Given the description of an element on the screen output the (x, y) to click on. 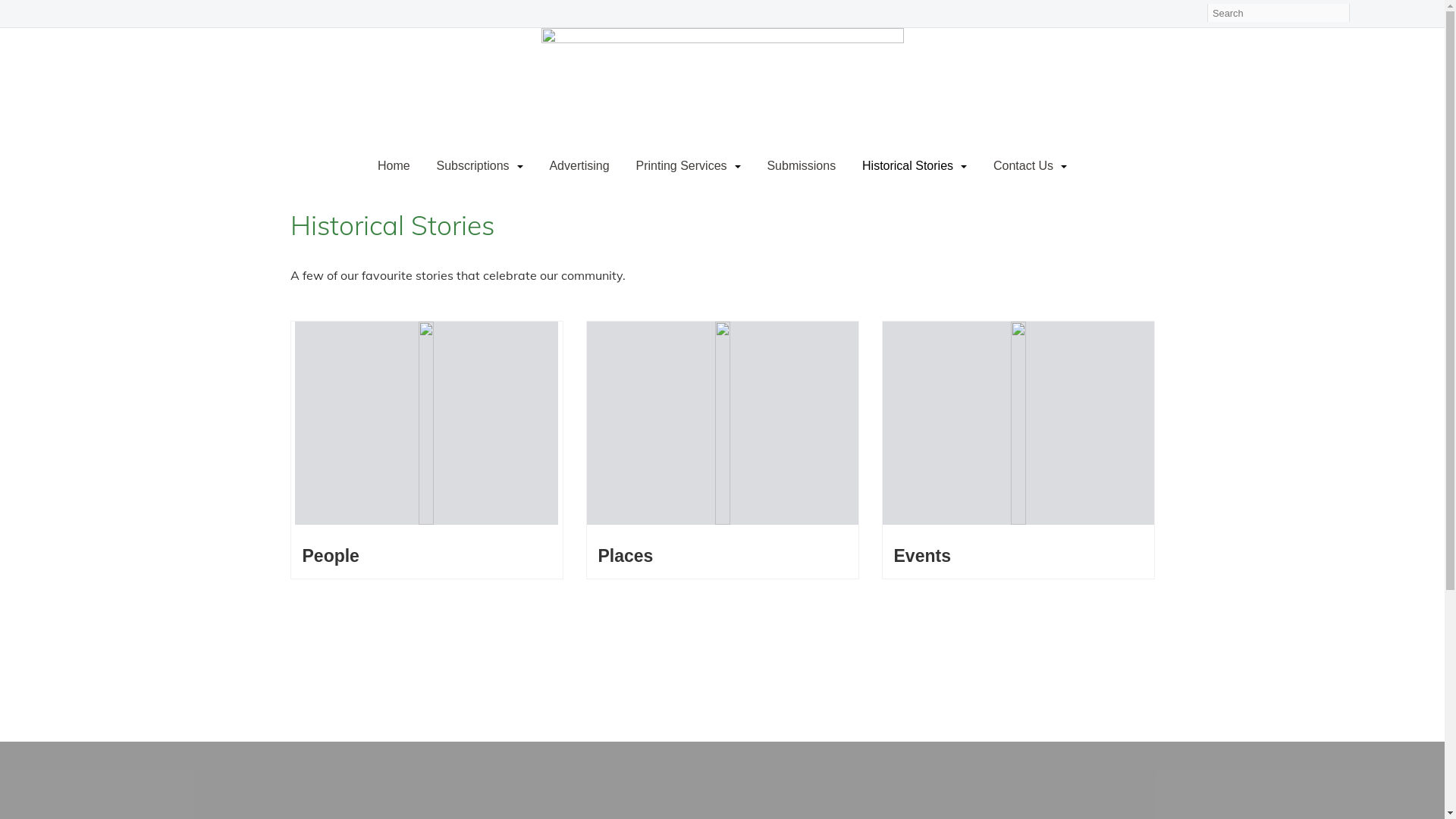
Historical Stories Element type: text (914, 165)
Advertising Element type: text (578, 165)
Login Element type: text (1188, 16)
People Element type: text (329, 555)
Events Element type: text (921, 555)
Submissions Element type: text (801, 165)
Printing Services Element type: text (687, 165)
Home Element type: text (393, 165)
Contact Us Element type: text (1030, 165)
Places Element type: text (624, 555)
Subscriptions Element type: text (478, 165)
